Given the description of an element on the screen output the (x, y) to click on. 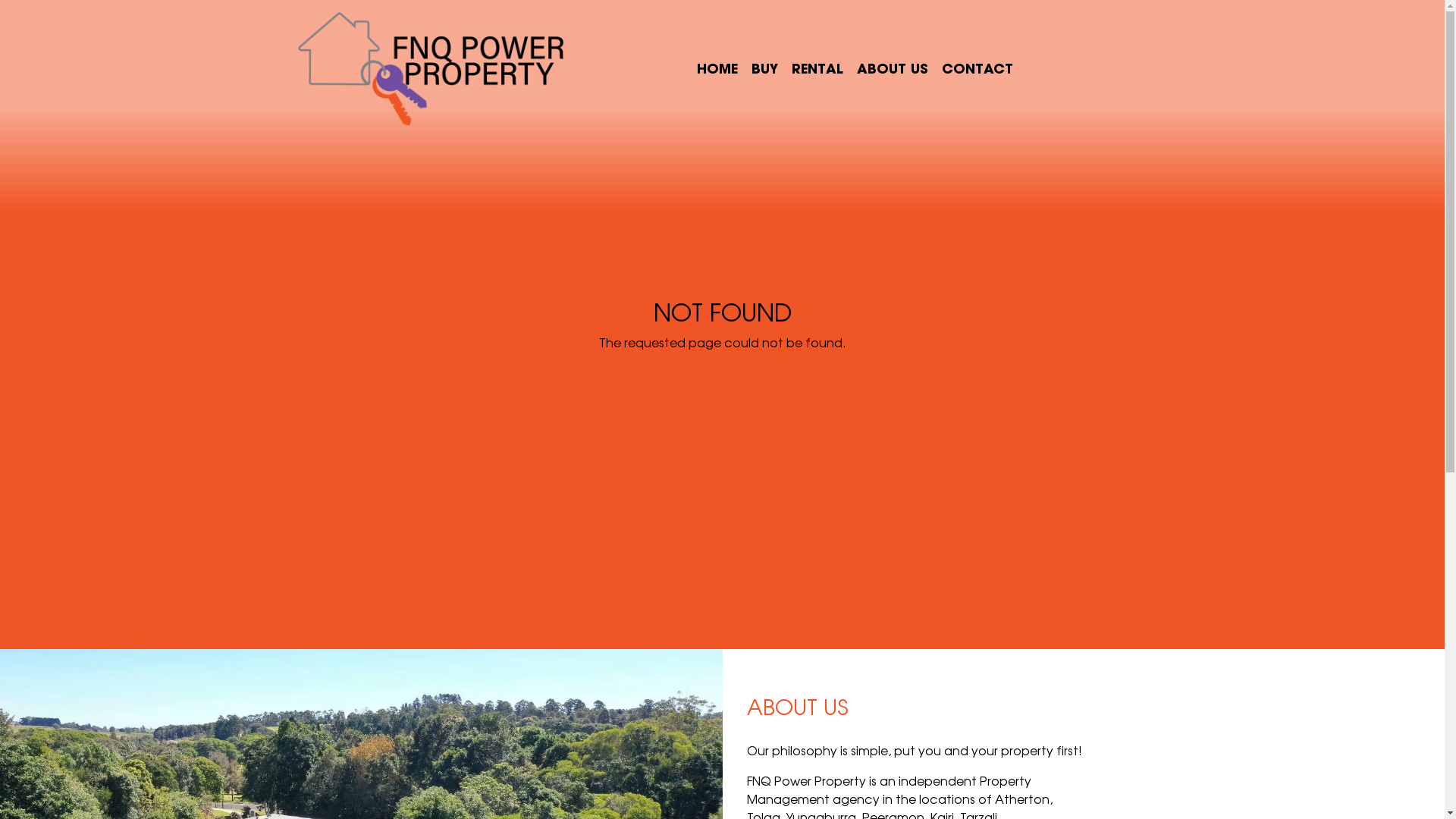
CONTACT Element type: text (977, 68)
ABOUT US Element type: text (892, 68)
BUY Element type: text (764, 68)
HOME Element type: text (717, 68)
RENTAL Element type: text (817, 68)
